Given the description of an element on the screen output the (x, y) to click on. 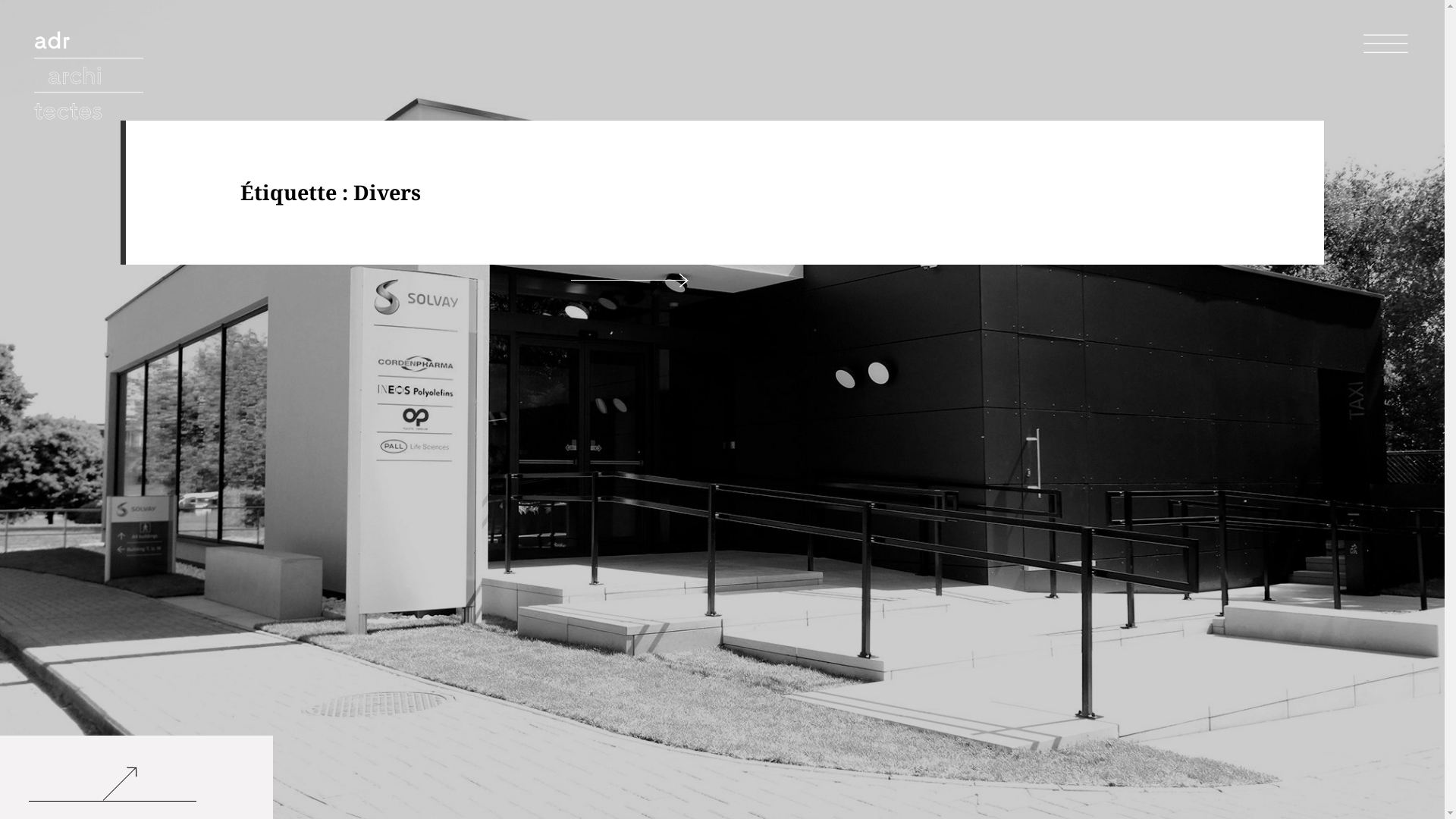
adr architectes Element type: text (90, 80)
MENU ET WIDGETS Element type: text (1385, 43)
